Given the description of an element on the screen output the (x, y) to click on. 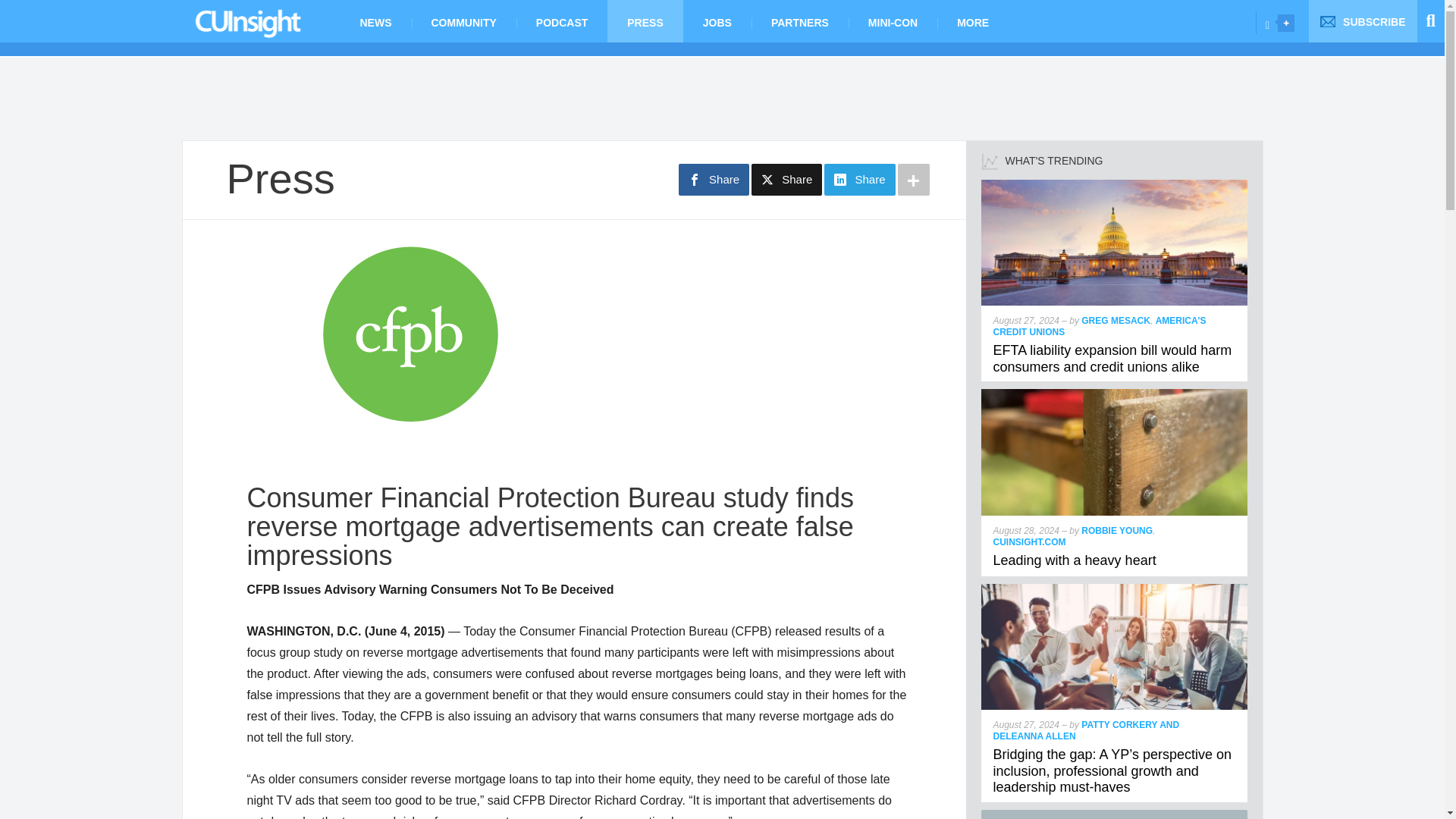
PODCAST (561, 21)
MORE (973, 21)
PRESS (644, 21)
Opener (1286, 22)
MINI-CON (892, 21)
SUBSCRIBE (1362, 21)
Share (713, 179)
PARTNERS (799, 21)
